Given the description of an element on the screen output the (x, y) to click on. 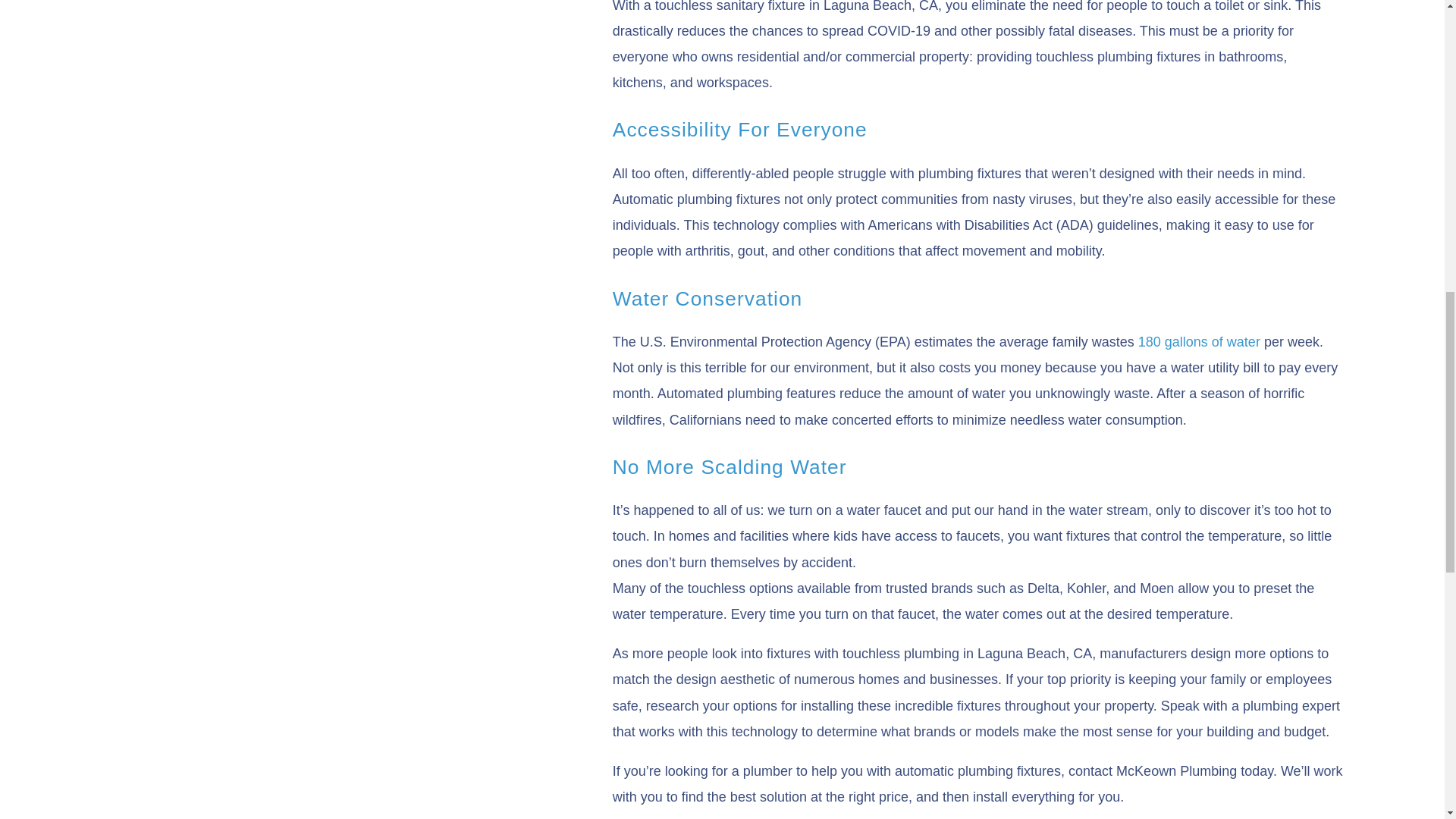
epa water facts (1199, 341)
